Given the description of an element on the screen output the (x, y) to click on. 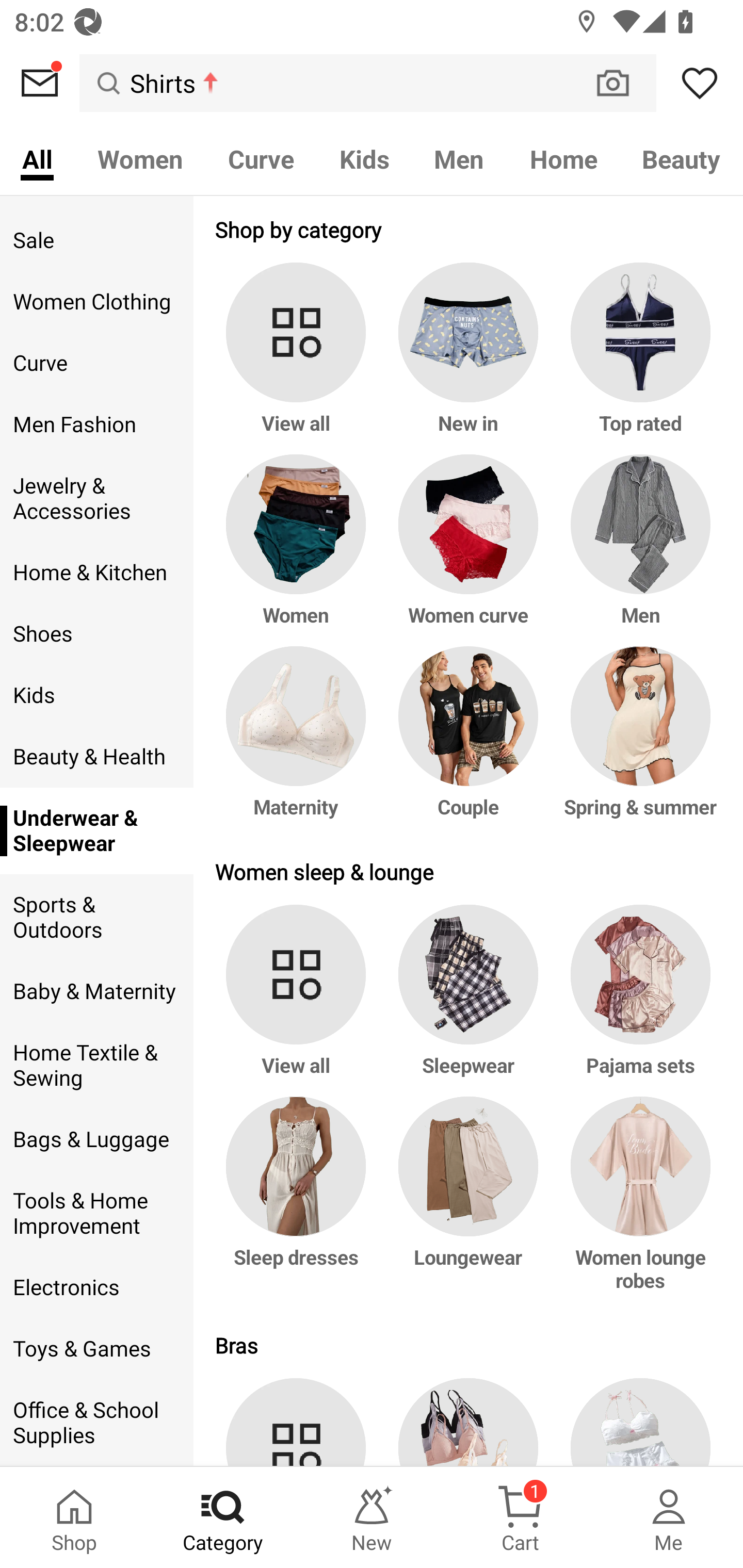
Wishlist (699, 82)
VISUAL SEARCH (623, 82)
All (37, 158)
Women (139, 158)
Curve (260, 158)
Kids (363, 158)
Men (458, 158)
Home (563, 158)
Beauty (681, 158)
Shop by category (468, 228)
Sale (96, 240)
View all (299, 357)
New in (468, 357)
Top rated (636, 357)
Women Clothing (96, 301)
Curve (96, 362)
Men Fashion (96, 423)
Women (299, 550)
Women curve (468, 550)
Men (636, 550)
Jewelry & Accessories (96, 498)
Home & Kitchen (96, 572)
Shoes (96, 633)
Maternity (299, 742)
Couple (468, 742)
Spring & summer (636, 742)
Kids (96, 694)
Beauty & Health (96, 756)
Underwear & Sleepwear (96, 830)
Women sleep & lounge (468, 871)
Sports & Outdoors (96, 917)
View all (299, 1000)
Sleepwear (468, 1000)
Pajama sets (636, 1000)
Baby & Maternity (96, 991)
Home Textile & Sewing (96, 1065)
Sleep dresses (299, 1204)
Loungewear (468, 1204)
Women lounge robes (636, 1204)
Bags & Luggage (96, 1138)
Tools & Home Improvement (96, 1213)
Electronics (96, 1287)
Bras (468, 1345)
Toys & Games (96, 1348)
Office & School Supplies (96, 1422)
Shop (74, 1517)
New (371, 1517)
Cart 1 Cart (519, 1517)
Me (668, 1517)
